Given the description of an element on the screen output the (x, y) to click on. 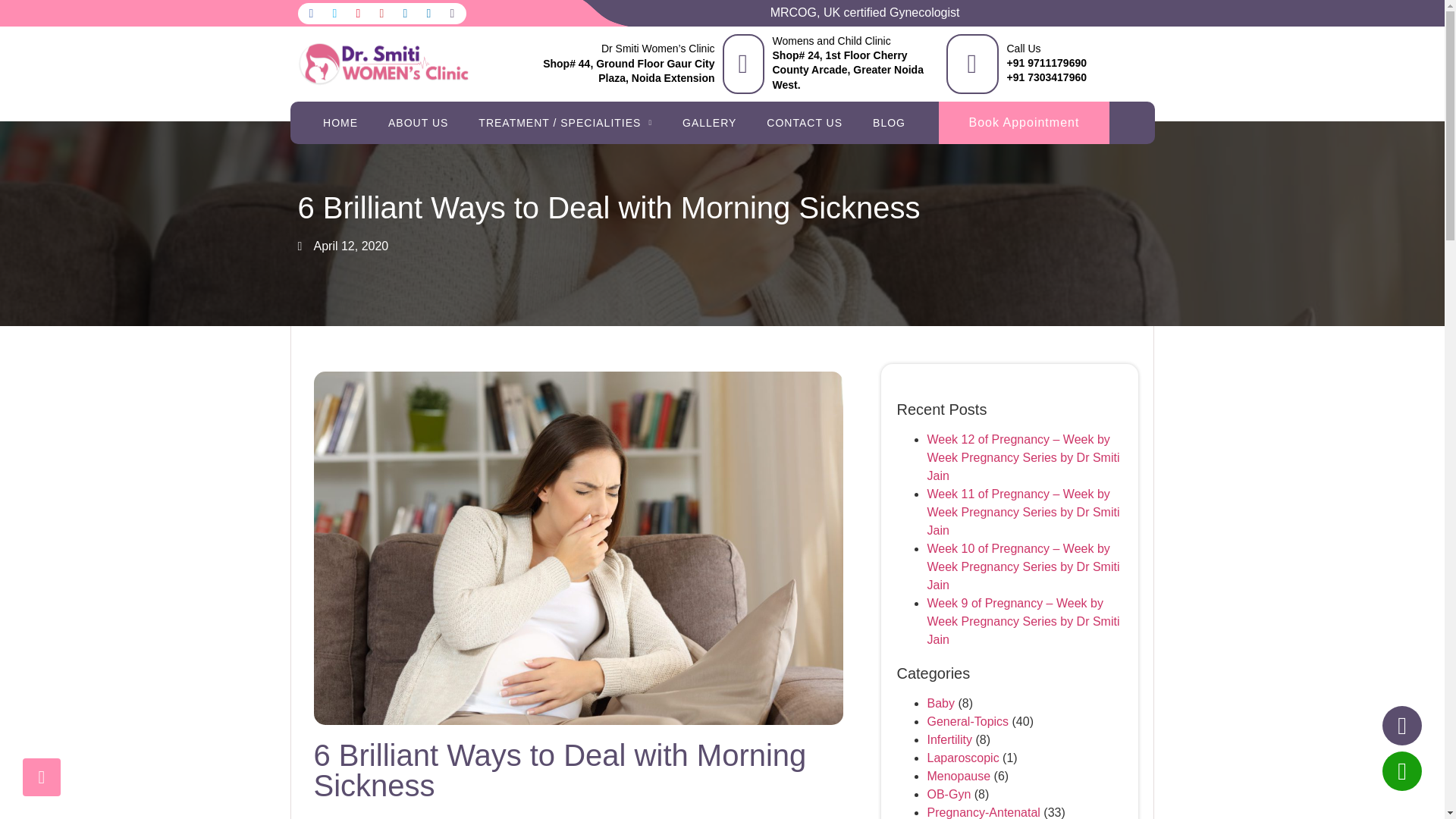
ABOUT US (417, 122)
HOME (339, 122)
Womens and Child Clinic (830, 40)
